Given the description of an element on the screen output the (x, y) to click on. 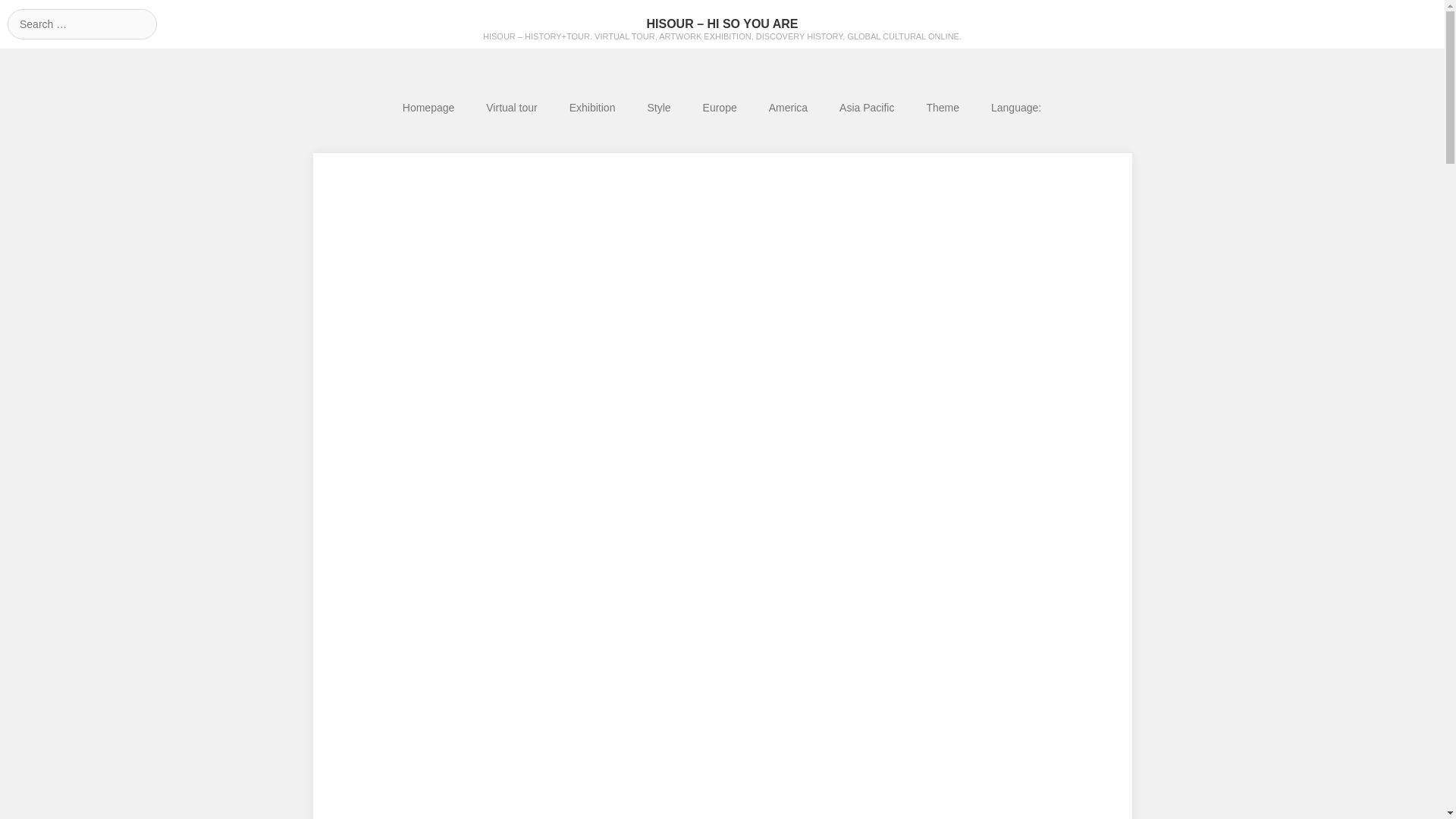
Style (657, 107)
Search for: (82, 24)
English (1016, 107)
Exhibition (592, 107)
Homepage (428, 107)
Europe (719, 107)
Virtual tour (511, 107)
